Given the description of an element on the screen output the (x, y) to click on. 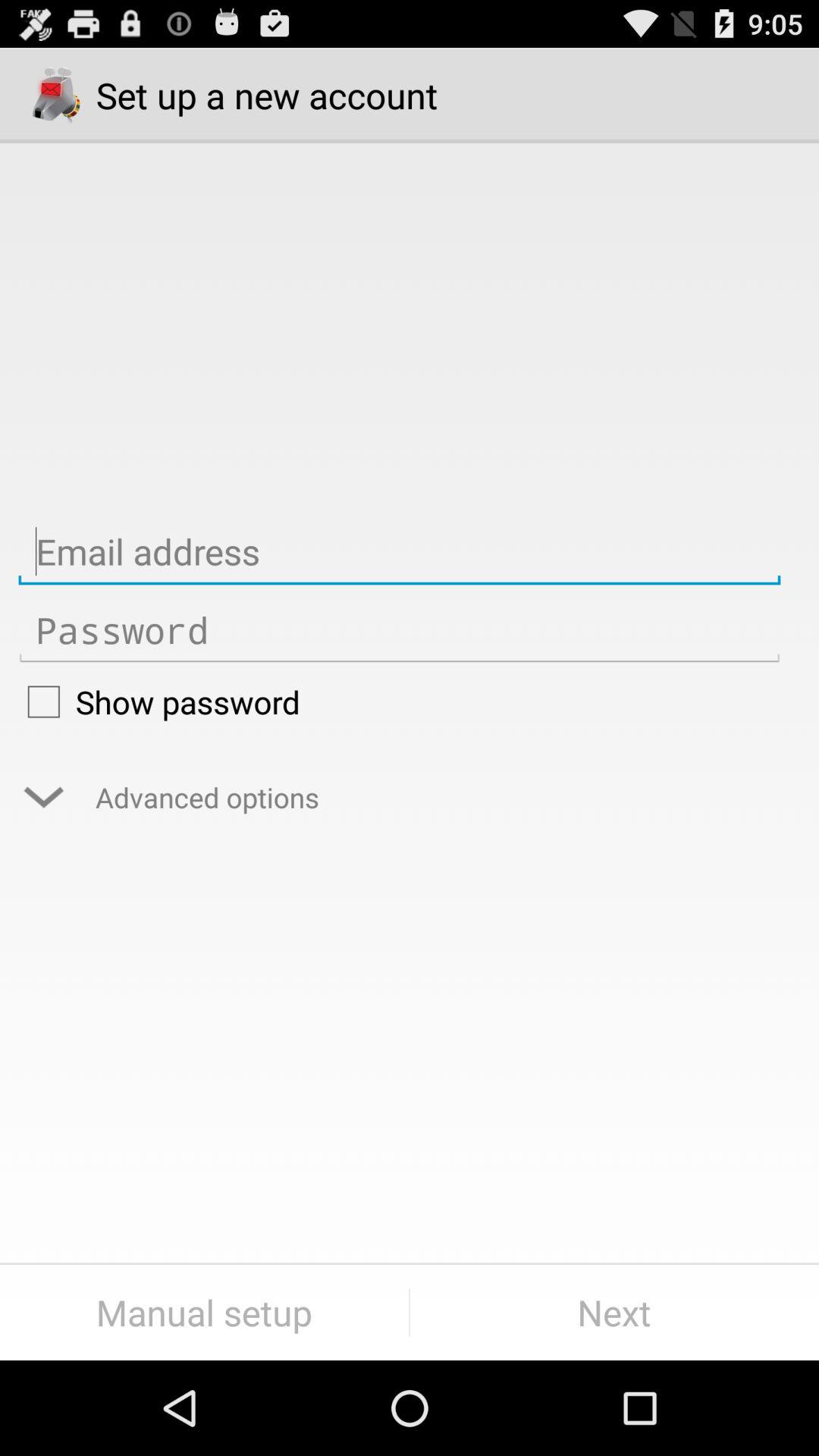
launch icon next to next item (204, 1312)
